Given the description of an element on the screen output the (x, y) to click on. 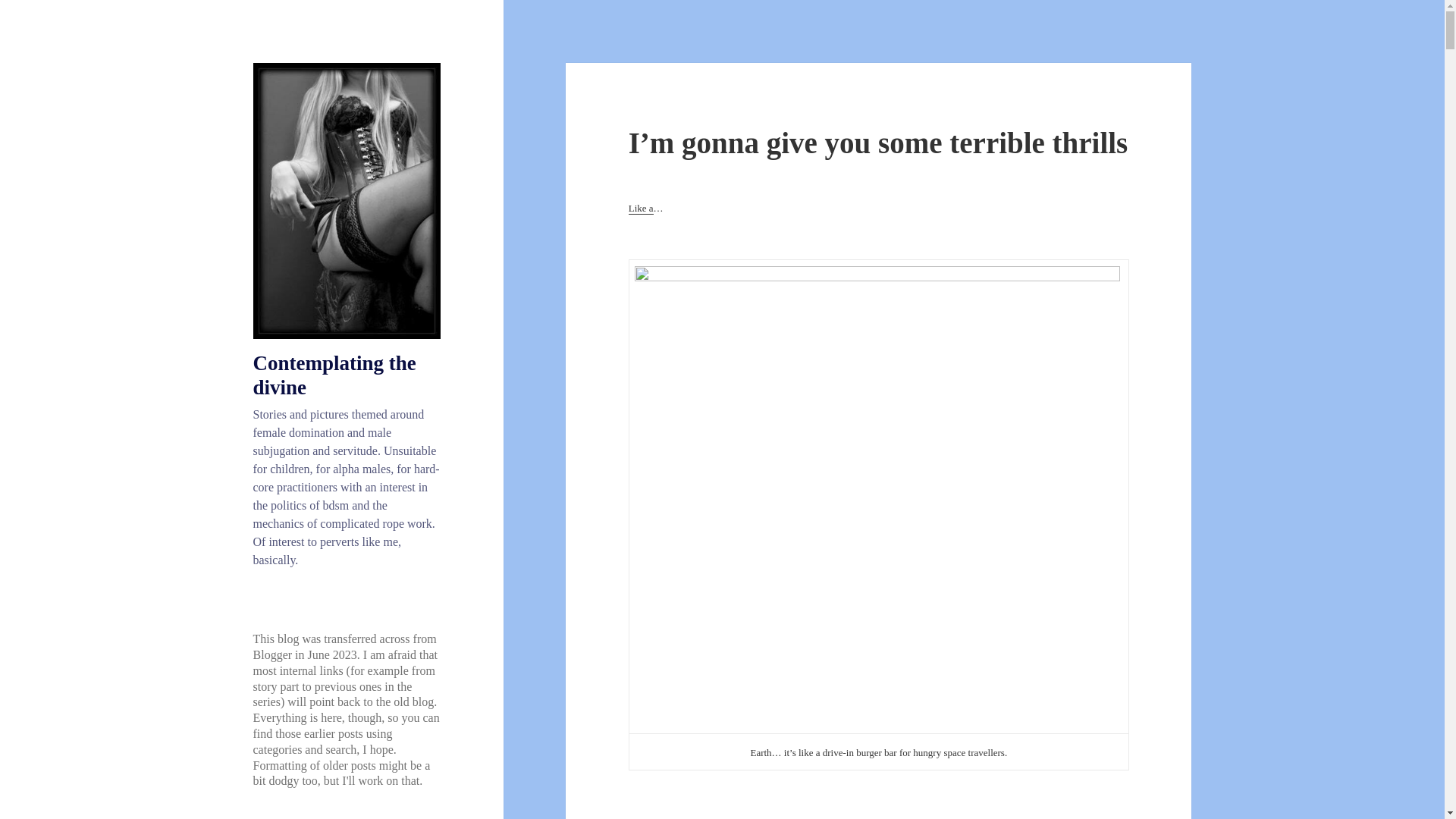
Contemplating the divine (334, 375)
